Given the description of an element on the screen output the (x, y) to click on. 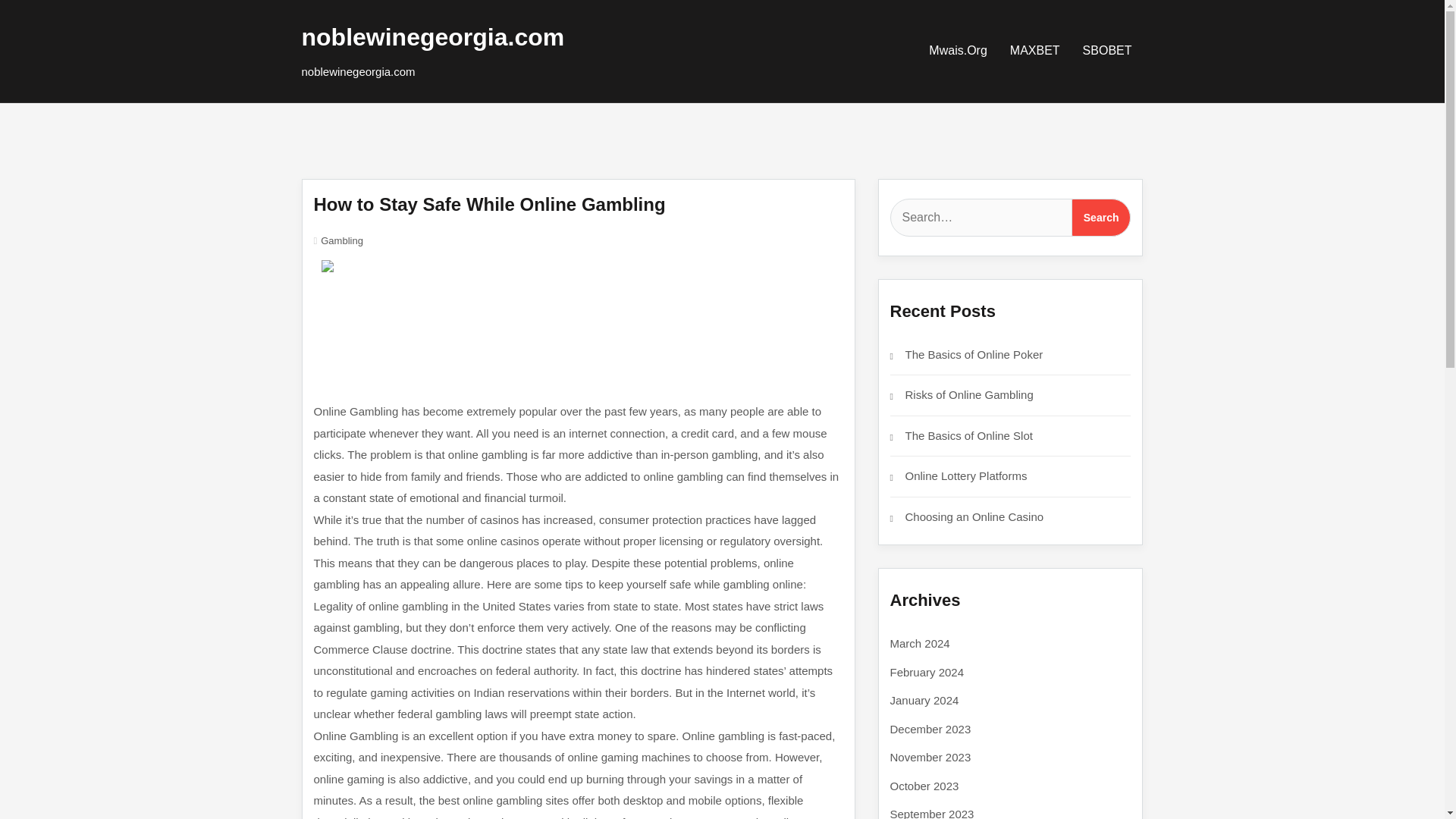
January 2024 (924, 699)
noblewinegeorgia.com (432, 36)
mwais.org (957, 50)
SBOBET (1106, 50)
The Basics of Online Poker (974, 353)
December 2023 (930, 727)
Gambling (341, 240)
Mwais.Org (957, 50)
The Basics of Online Slot (968, 435)
How to Stay Safe While Online Gambling (489, 204)
October 2023 (924, 785)
MAXBET (1034, 50)
Search (1101, 217)
September 2023 (931, 813)
Choosing an Online Casino (974, 515)
